Given the description of an element on the screen output the (x, y) to click on. 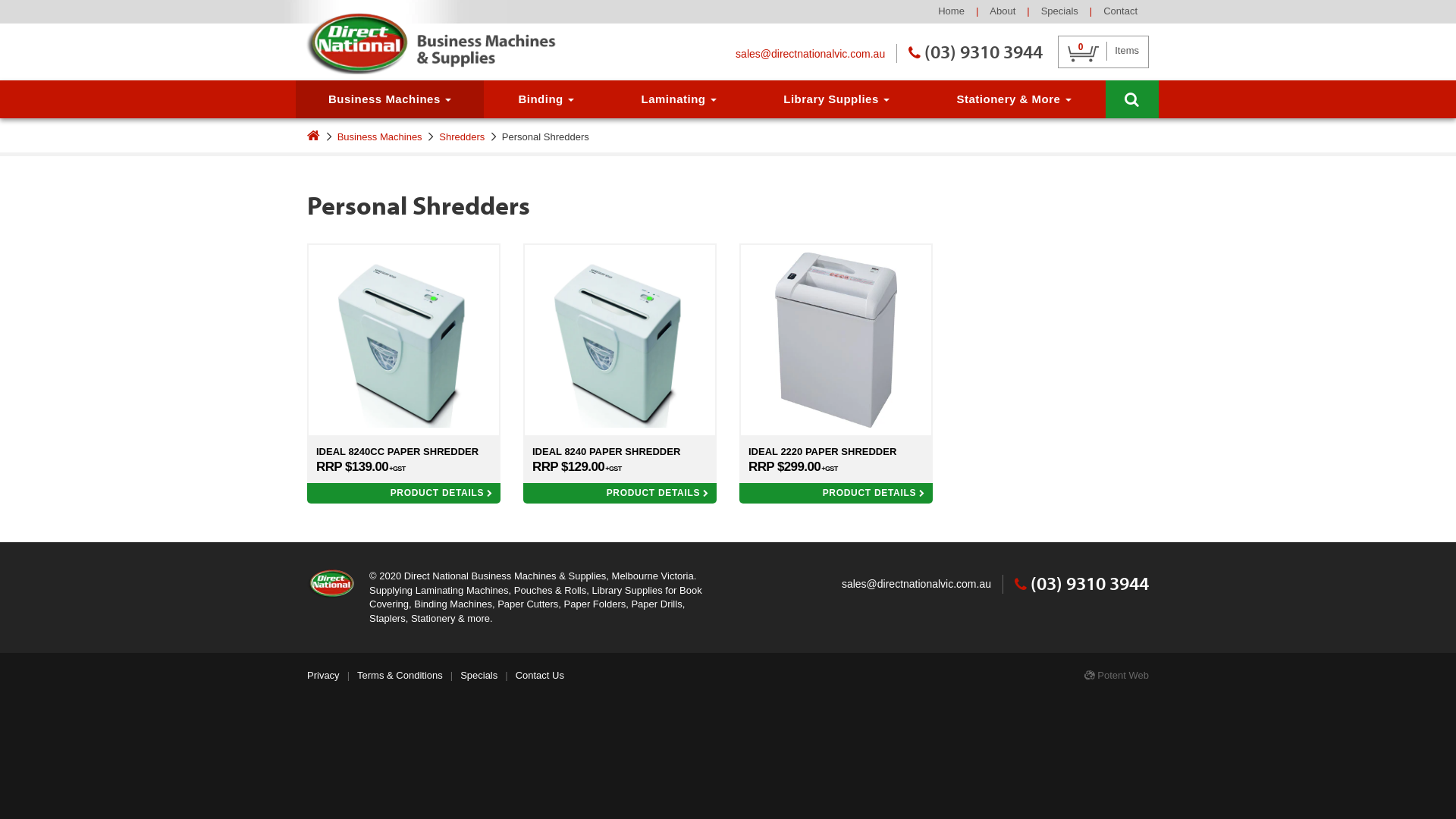
Laminating Machines Element type: text (461, 590)
Potent Web Element type: text (1116, 674)
Terms & Conditions Element type: text (399, 674)
Shredders Element type: text (461, 136)
sales@directnationalvic.com.au Element type: text (809, 54)
IDEAL 2220 PAPER SHREDDER
RRP $299.00 +GST
PRODUCT DETAILS Element type: text (835, 373)
Binding Element type: text (545, 99)
Business Machines Element type: text (389, 99)
Contact Us Element type: text (539, 674)
Staplers Element type: text (387, 618)
Stationery & more Element type: text (450, 618)
IDEAL 8240 PAPER SHREDDER
RRP $129.00 +GST
PRODUCT DETAILS Element type: text (619, 373)
(03) 9310 3944 Element type: text (975, 51)
Book Covering Element type: text (535, 597)
Paper Cutters Element type: text (527, 603)
Contact Element type: text (1120, 10)
Laminating Element type: text (678, 99)
Specials Element type: text (478, 674)
Binding Machines Element type: text (453, 603)
IDEAL 8240CC PAPER SHREDDER
RRP $139.00 +GST
PRODUCT DETAILS Element type: text (403, 373)
Business Machines Element type: text (379, 136)
Stationery & More Element type: text (1013, 99)
Pouches & Rolls Element type: text (550, 590)
Privacy Element type: text (323, 674)
(03) 9310 3944 Element type: text (1081, 582)
Home Element type: text (951, 10)
Library Supplies Element type: text (836, 99)
sales@directnationalvic.com.au Element type: text (916, 584)
Library Supplies Element type: text (626, 590)
About Element type: text (1002, 10)
0
Items Element type: text (1102, 51)
Specials Element type: text (1059, 10)
Paper Folders Element type: text (595, 603)
Paper Drills Element type: text (655, 603)
